Given the description of an element on the screen output the (x, y) to click on. 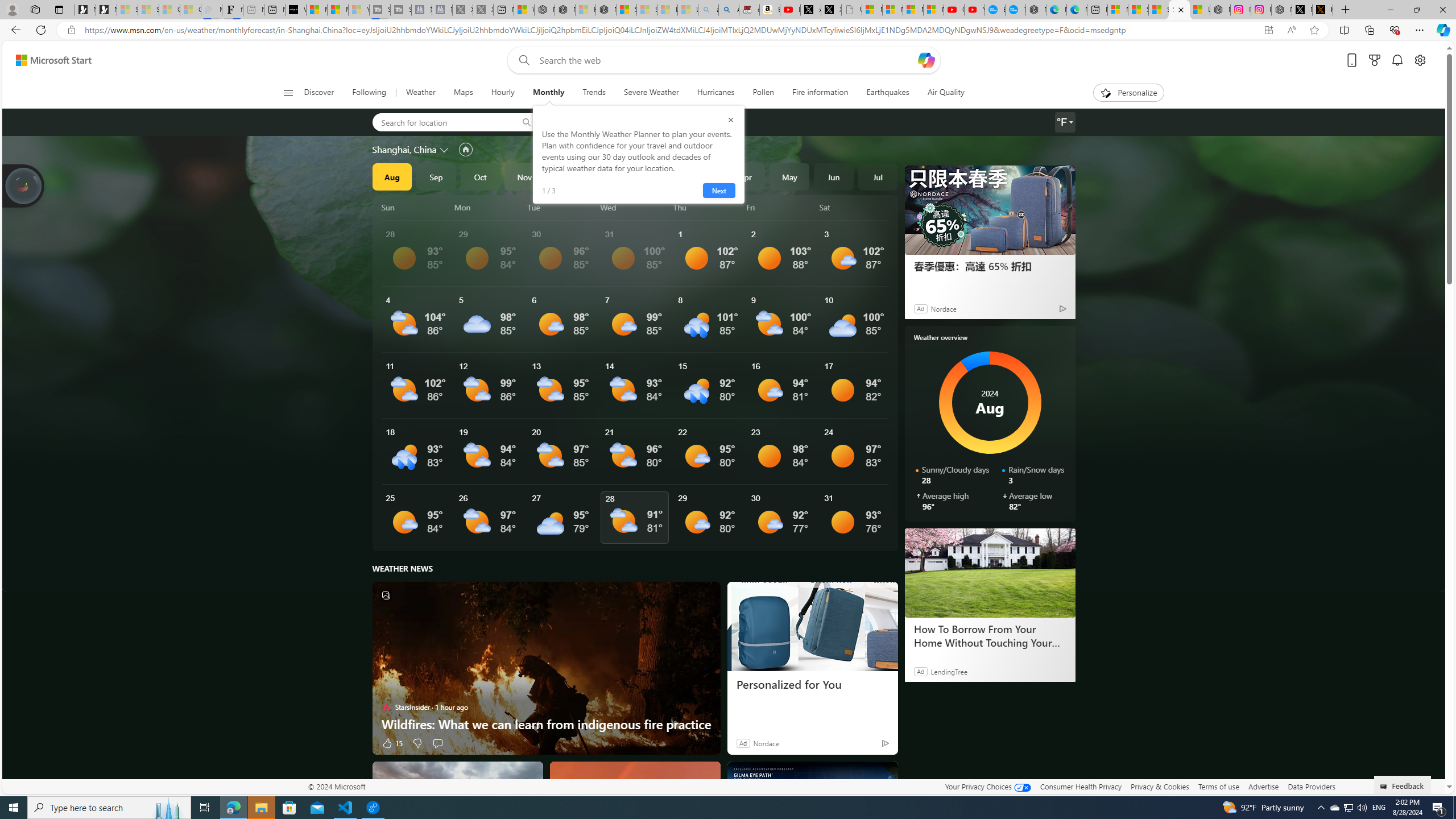
Jul (877, 176)
Gloom - YouTube (954, 9)
Thu (707, 207)
help.x.com | 524: A timeout occurred (1322, 9)
Sep (435, 176)
Sat (853, 207)
Data Providers (1311, 785)
StarsInsider (385, 706)
